Given the description of an element on the screen output the (x, y) to click on. 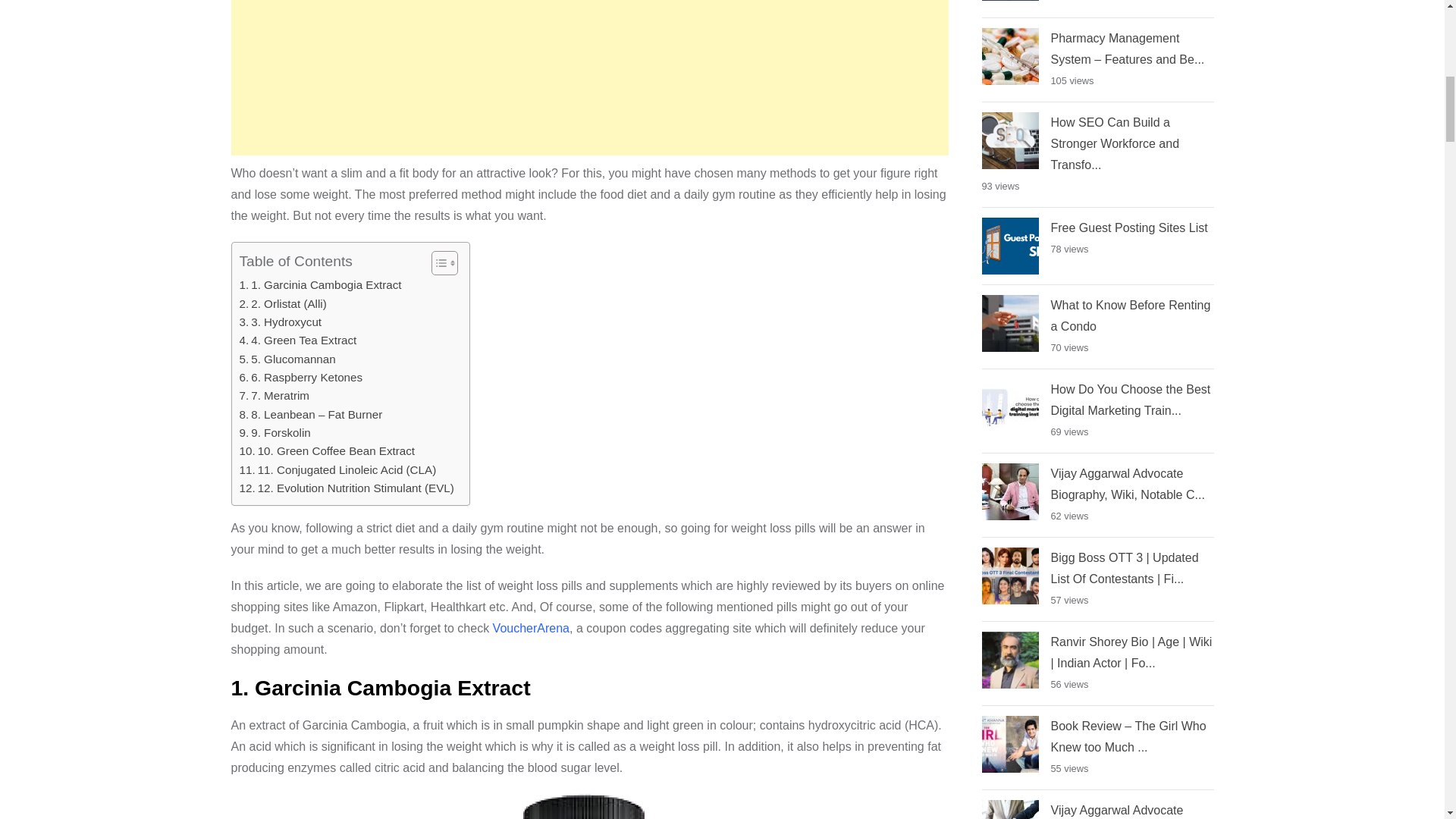
5. Glucomannan (288, 359)
4. Green Tea Extract (298, 340)
Advertisement (588, 77)
3. Hydroxycut (280, 321)
6. Raspberry Ketones (301, 377)
1. Garcinia Cambogia Extract (320, 285)
